Given the description of an element on the screen output the (x, y) to click on. 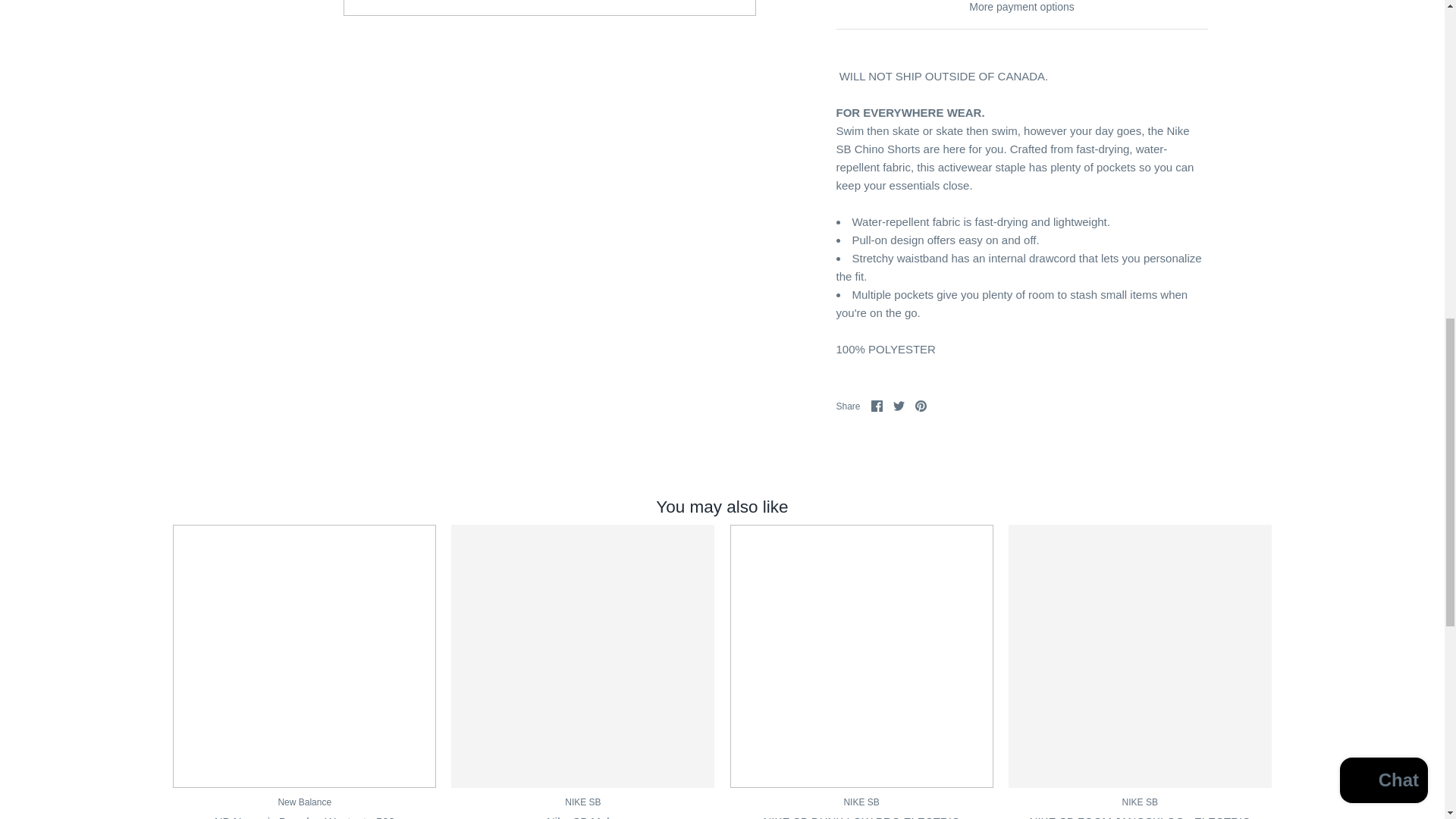
Twitter (898, 405)
Facebook (876, 405)
Pinterest (920, 405)
